Given the description of an element on the screen output the (x, y) to click on. 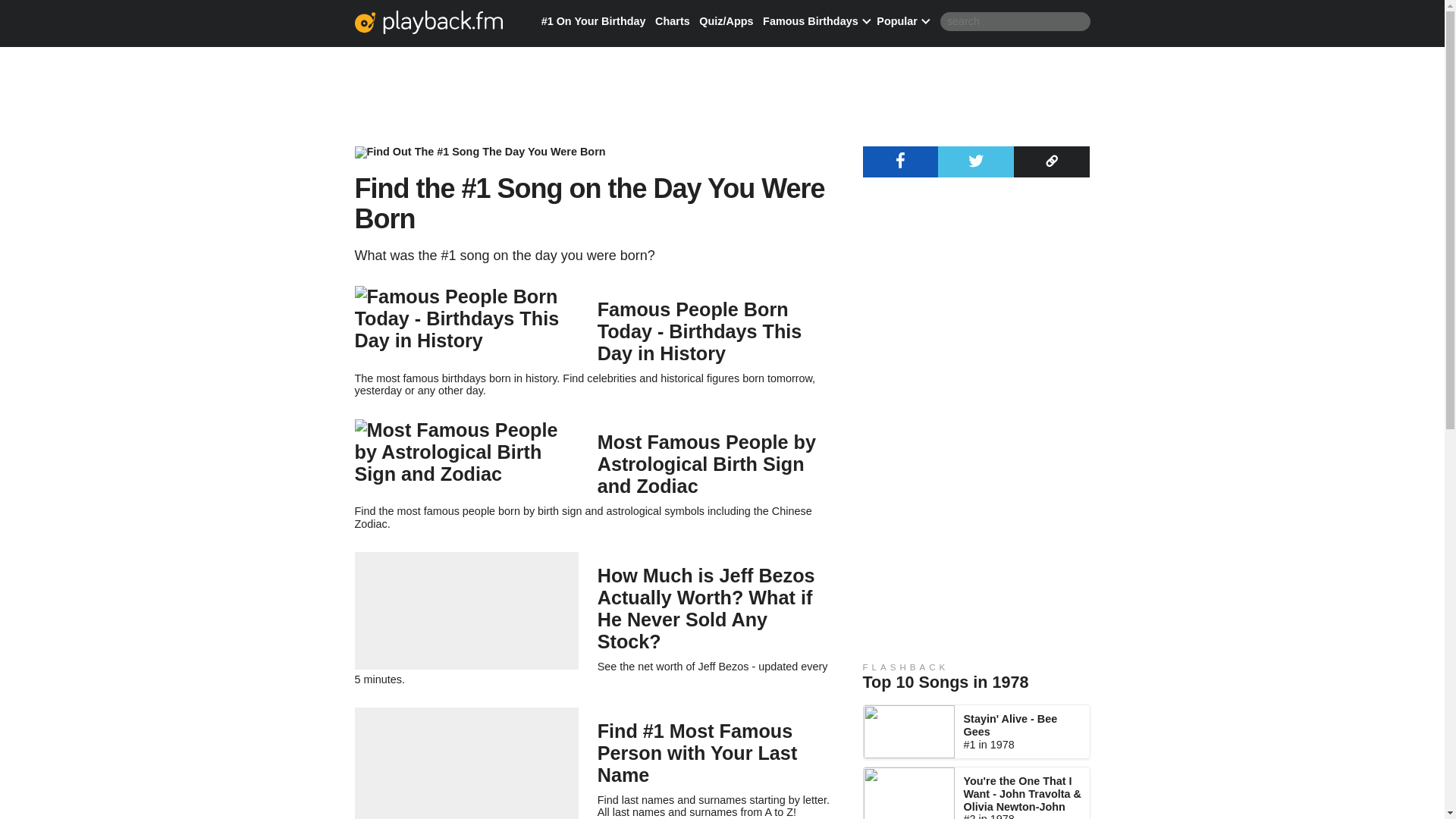
Famous People Born Today - Birthdays This Day in History (699, 330)
Most Famous People by Astrological Birth Sign and Zodiac (705, 463)
Charts (672, 21)
